Given the description of an element on the screen output the (x, y) to click on. 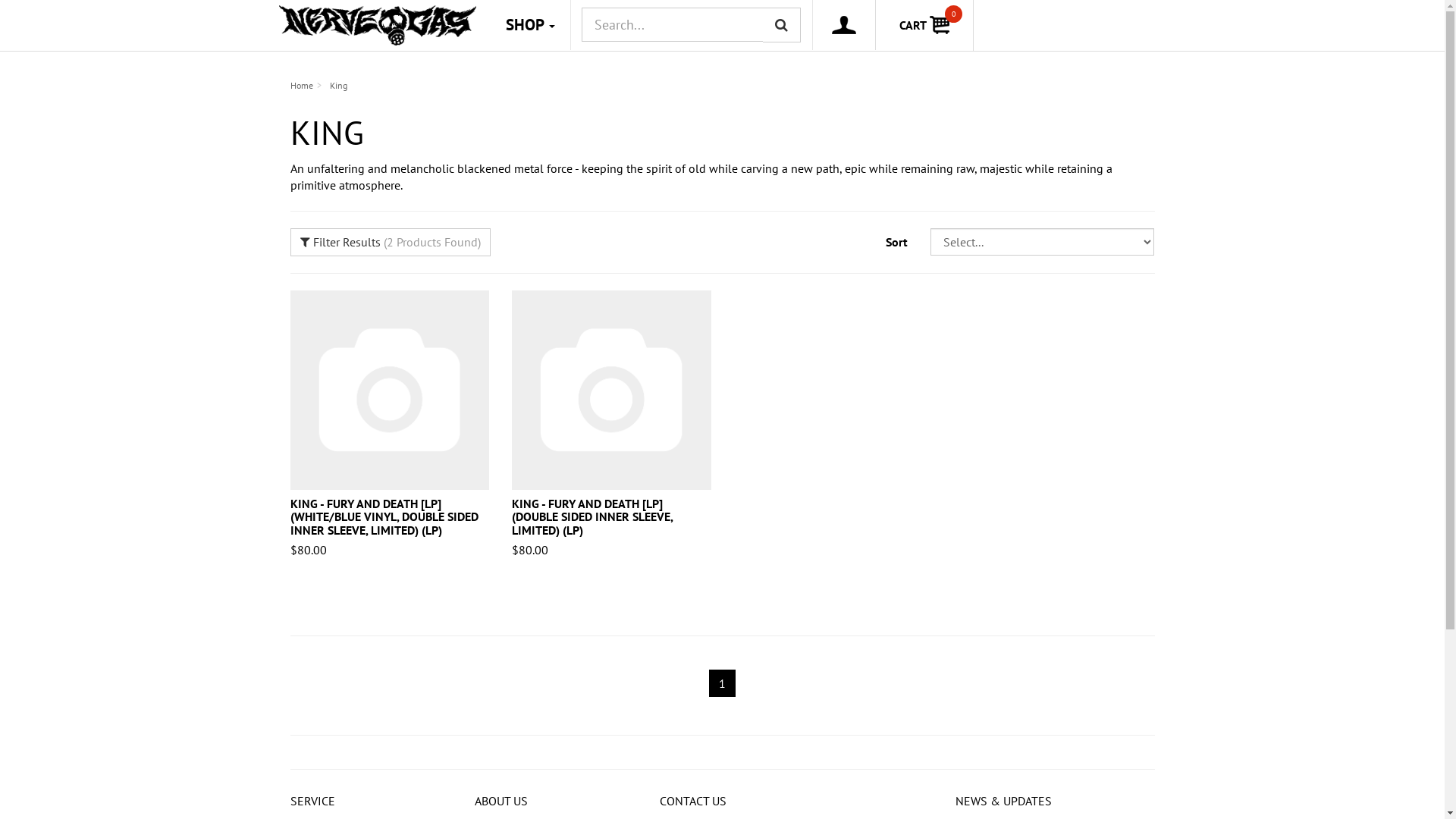
Nerve Gas Element type: text (379, 27)
King Element type: text (337, 85)
MY ACCOUNT Element type: text (843, 25)
Home Element type: text (300, 85)
SHOP Element type: text (529, 25)
Filter Results (2 Products Found) Element type: text (389, 242)
Search Element type: text (781, 24)
1 Element type: text (722, 683)
